Given the description of an element on the screen output the (x, y) to click on. 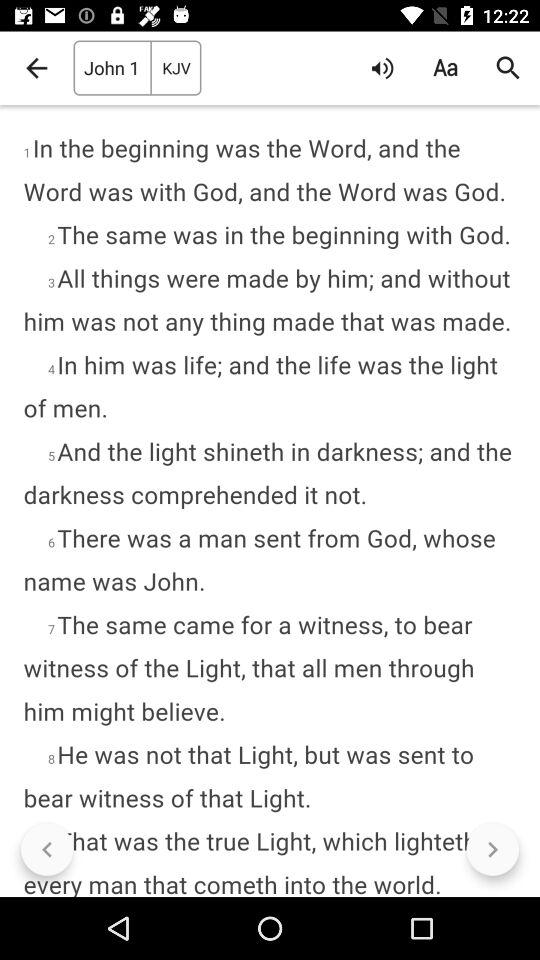
choose the item next to the john 1 (36, 68)
